Given the description of an element on the screen output the (x, y) to click on. 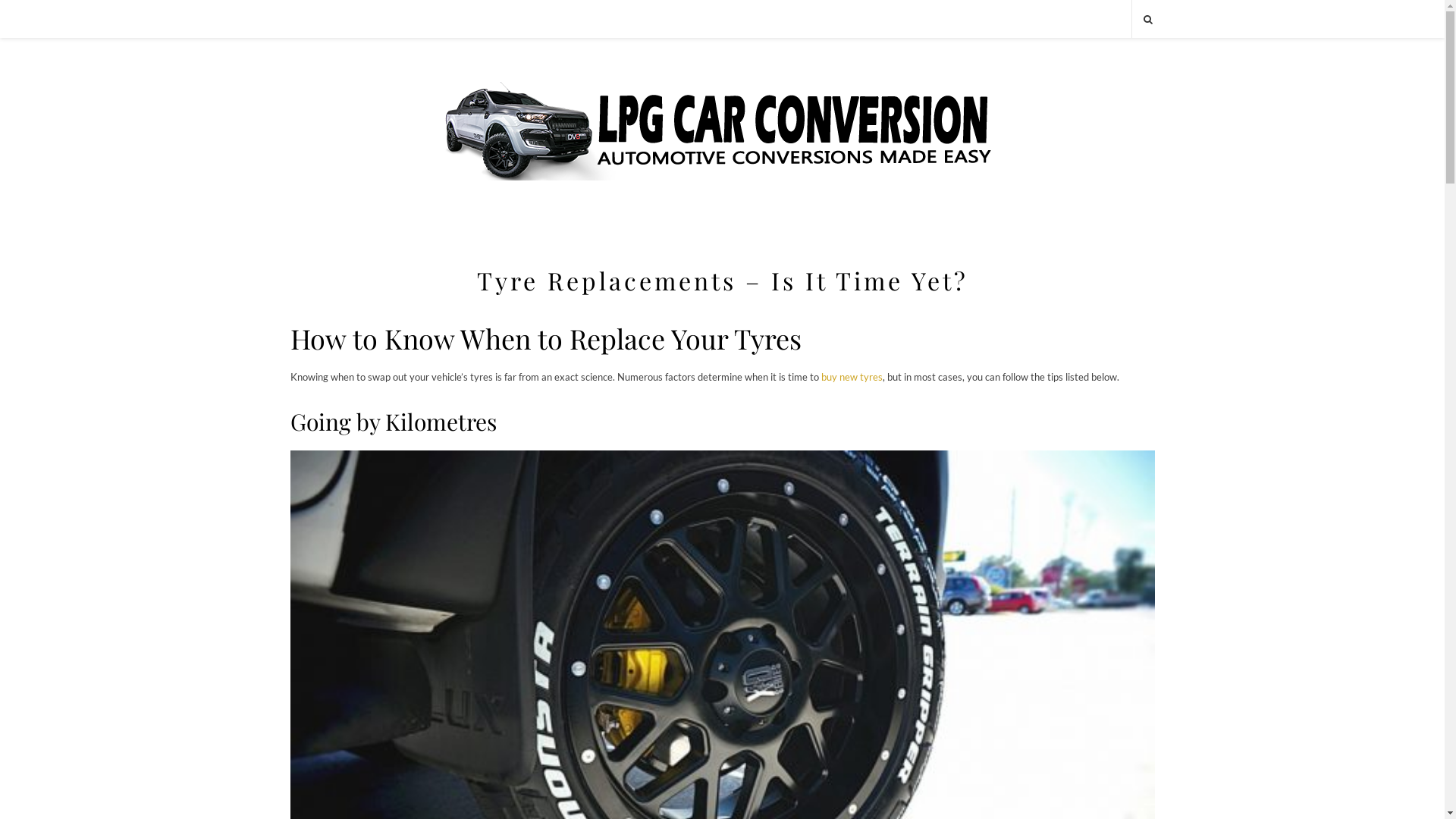
buy new tyres Element type: text (850, 376)
